Given the description of an element on the screen output the (x, y) to click on. 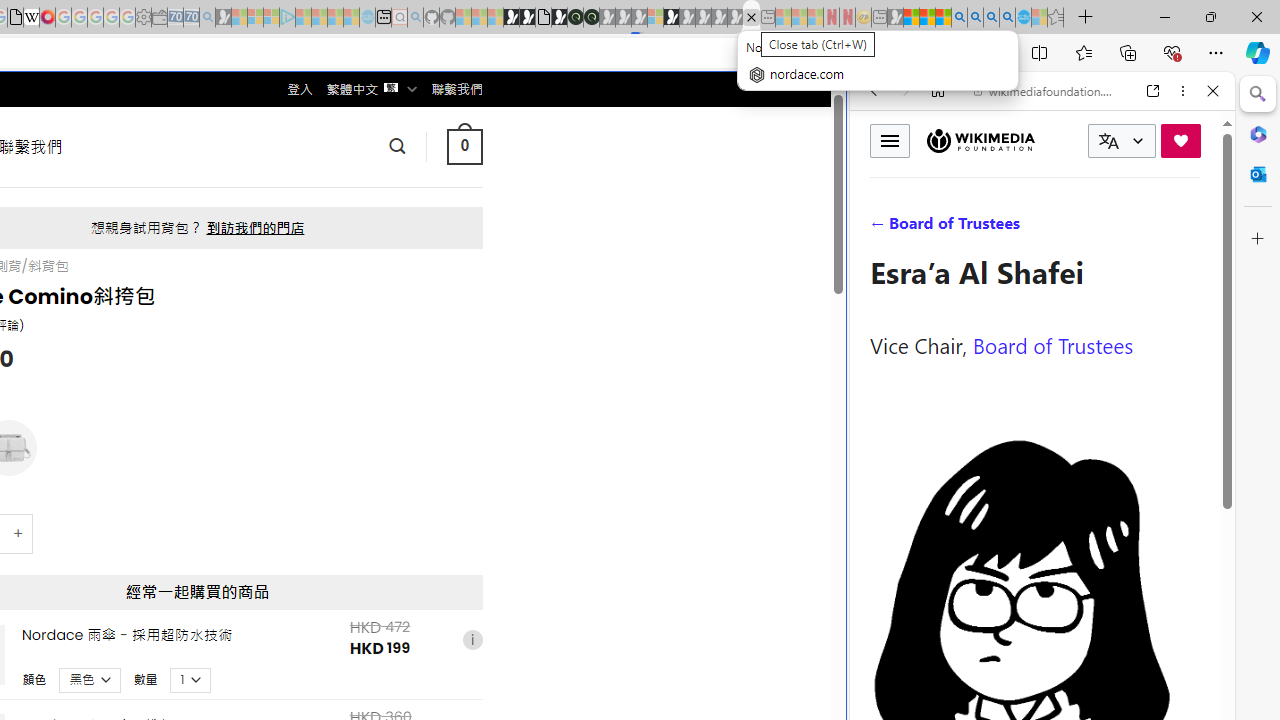
Future Focus Report 2024 (591, 17)
This site scope (936, 180)
Show translate options (867, 53)
Minimize (1164, 16)
Toggle menu (890, 140)
github - Search - Sleeping (415, 17)
New tab (383, 17)
Microsoft 365 (1258, 133)
Search (1258, 94)
Read aloud this page (Ctrl+Shift+U) (946, 53)
